Given the description of an element on the screen output the (x, y) to click on. 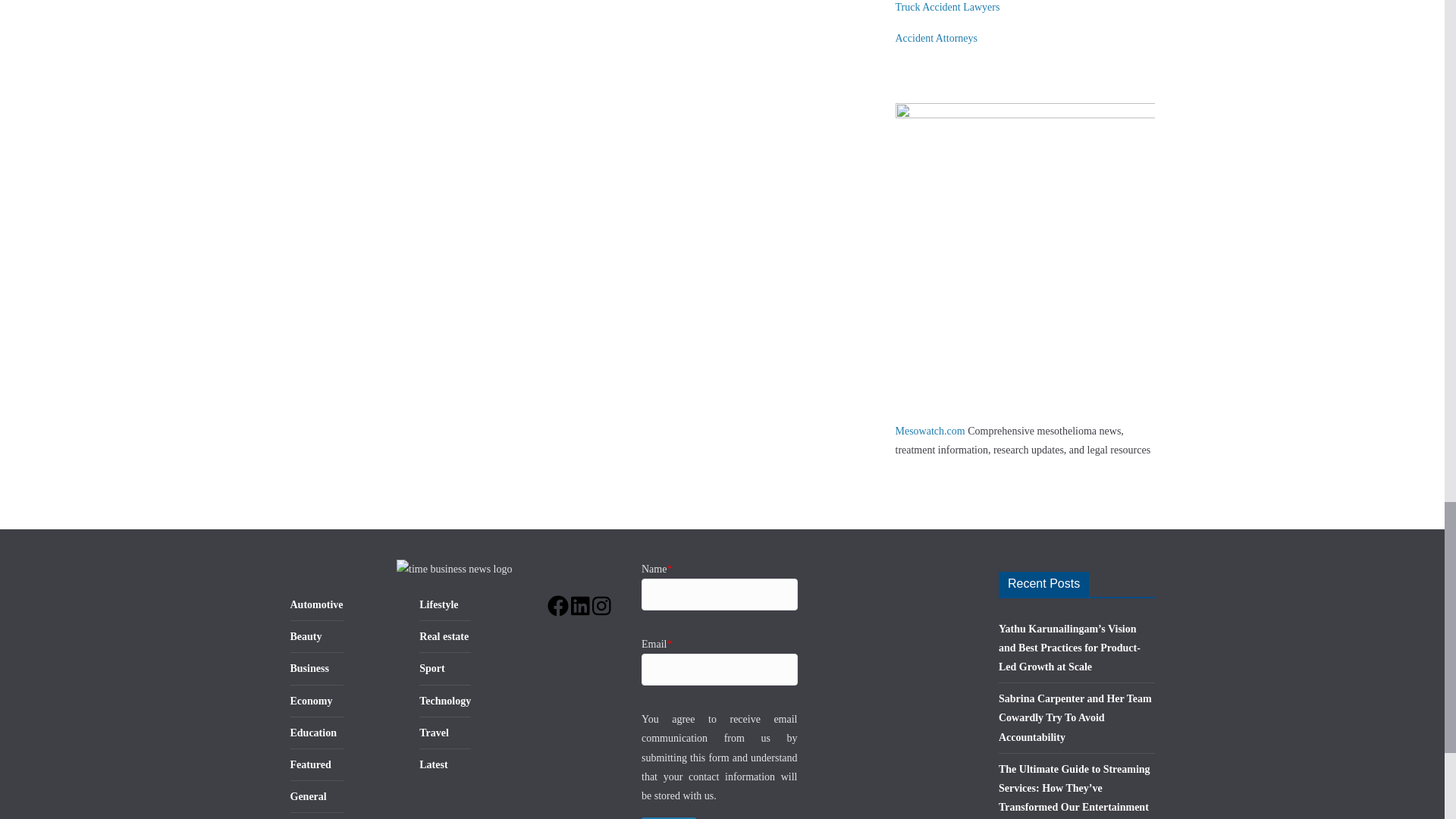
Truck Accident Lawyers (946, 7)
Accident Attorneys (935, 38)
Business (309, 668)
Beauty (305, 636)
Economy (310, 700)
Automotive (315, 604)
Mesowatch.com (929, 430)
